Given the description of an element on the screen output the (x, y) to click on. 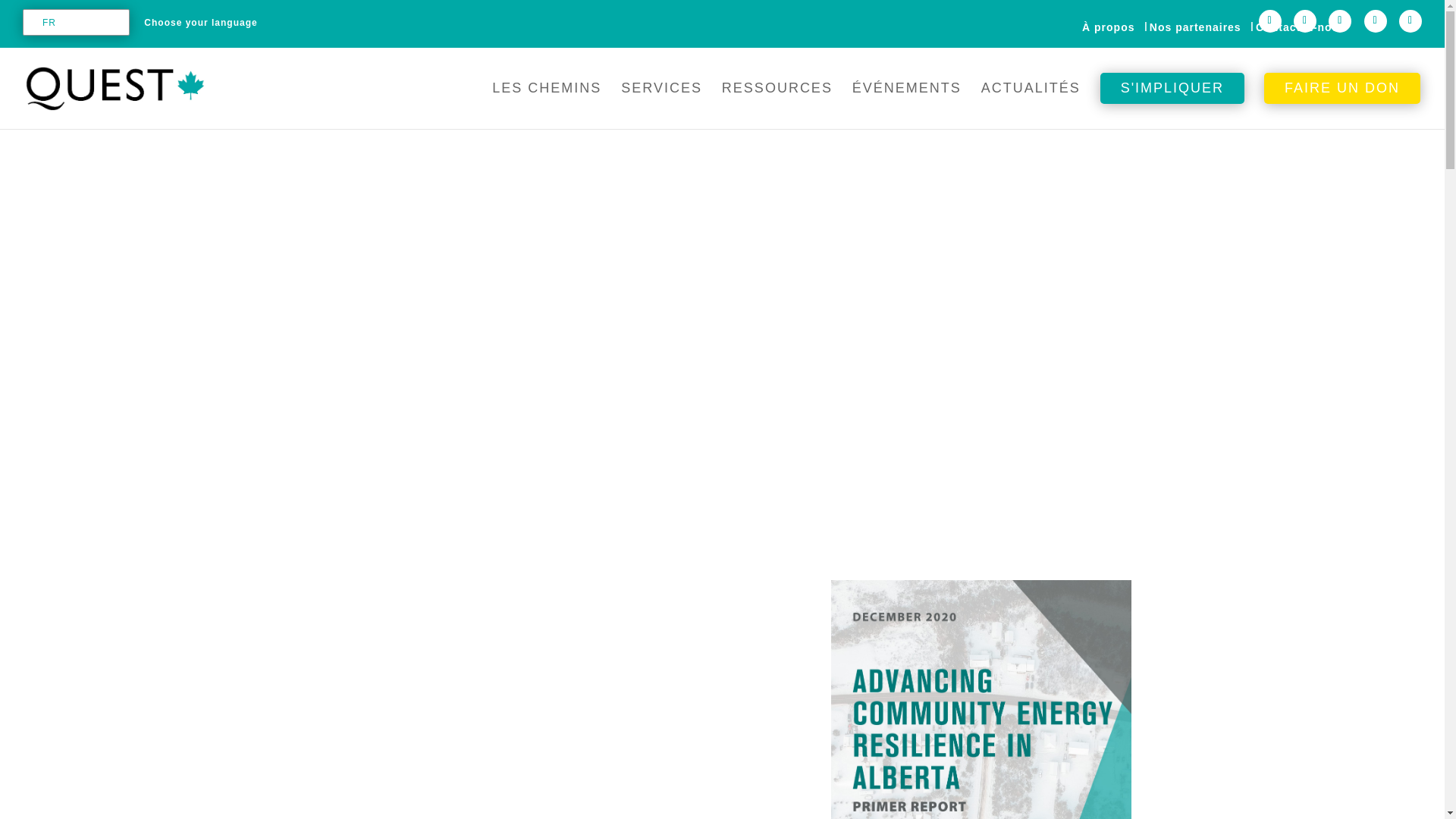
FR (73, 22)
FAIRE UN DON (1342, 100)
Contactez-nous (1300, 28)
Climate Risk and Resilience Assessment Report (981, 699)
S'IMPLIQUER (1172, 100)
LES CHEMINS (546, 99)
Nos partenaires (1195, 28)
SERVICES (661, 99)
RESSOURCES (777, 99)
